Given the description of an element on the screen output the (x, y) to click on. 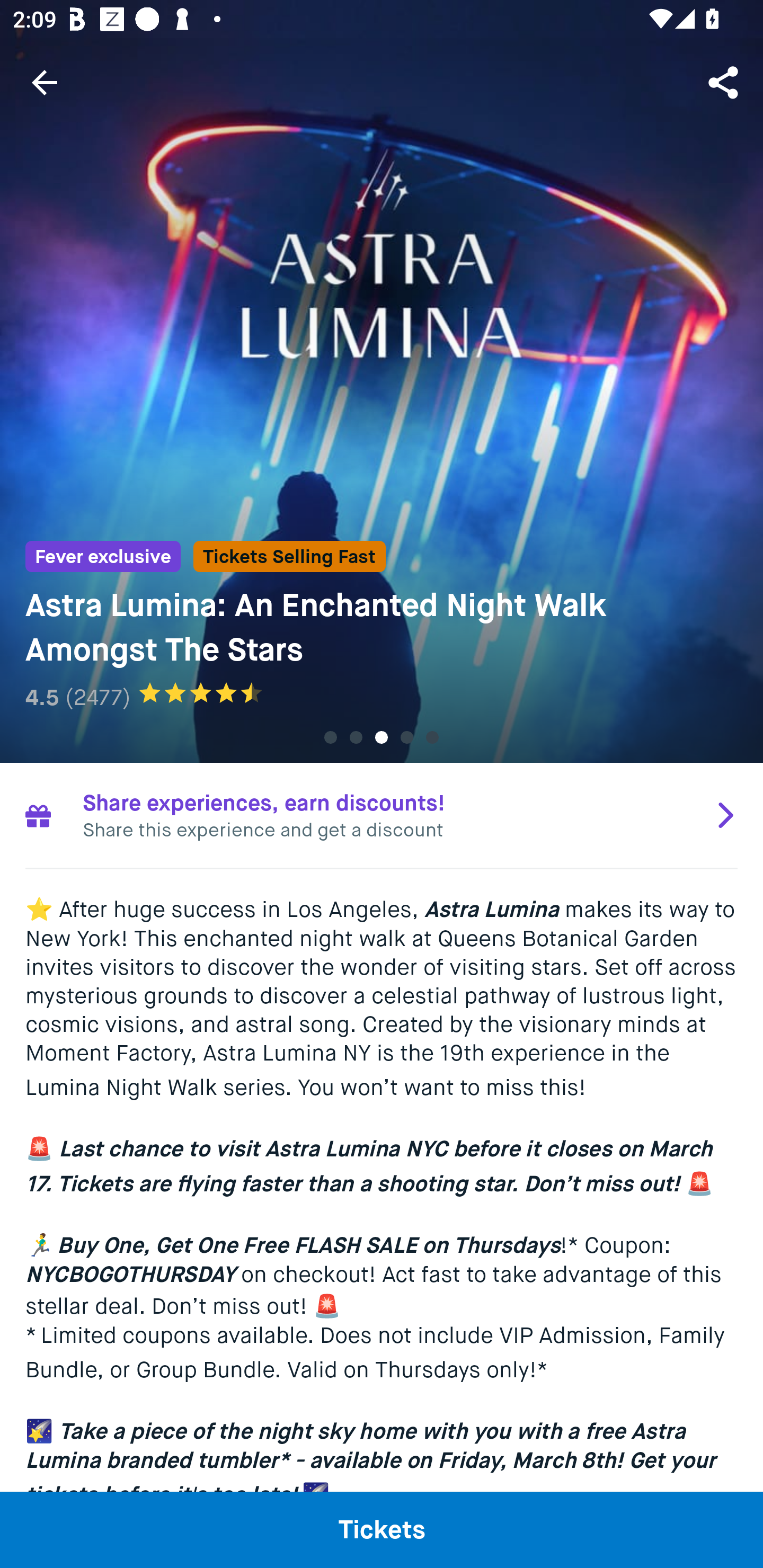
Navigate up (44, 82)
Share (724, 81)
(2477) (97, 697)
Tickets (381, 1529)
